Given the description of an element on the screen output the (x, y) to click on. 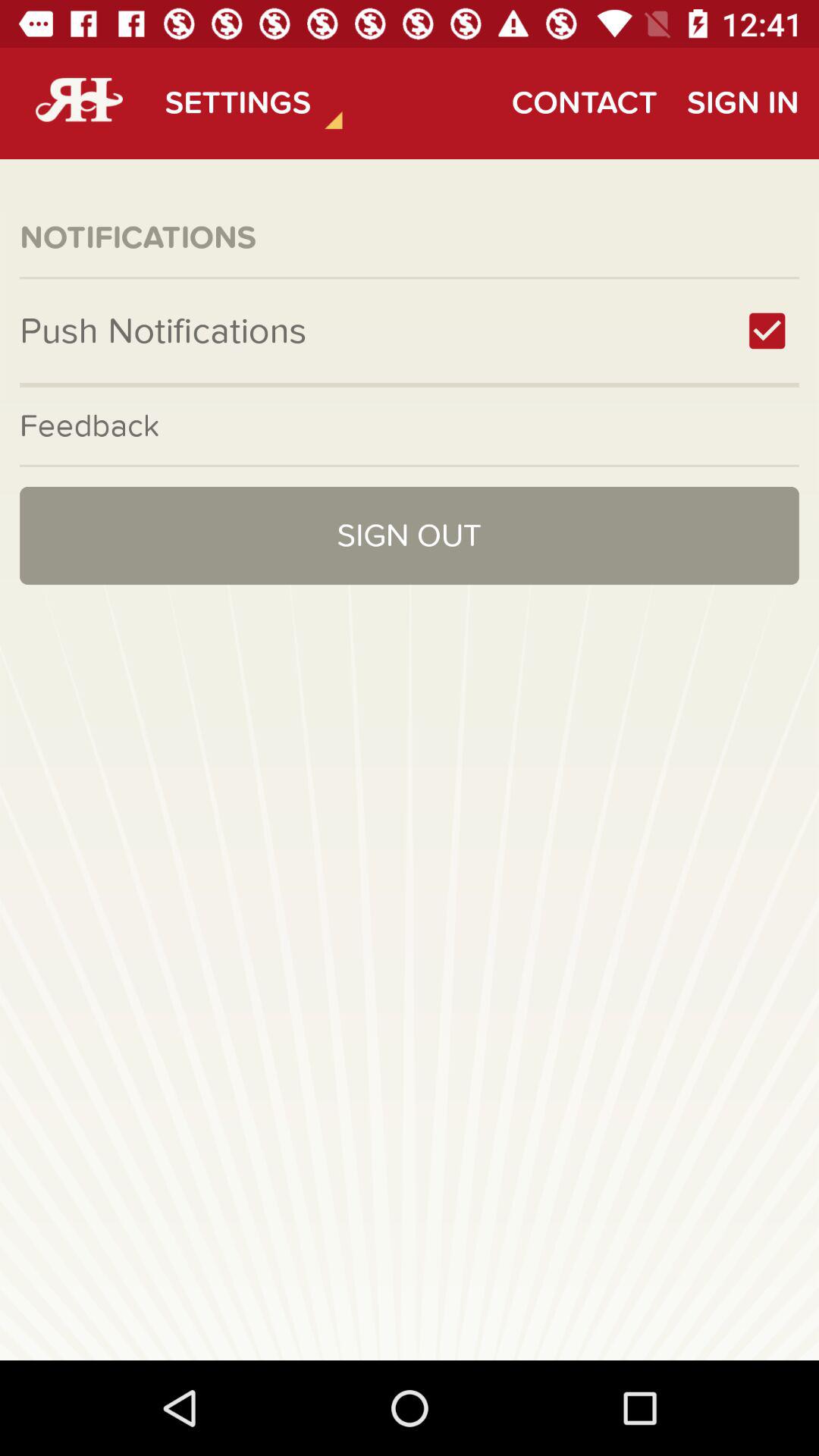
launch icon next to contact icon (743, 103)
